Given the description of an element on the screen output the (x, y) to click on. 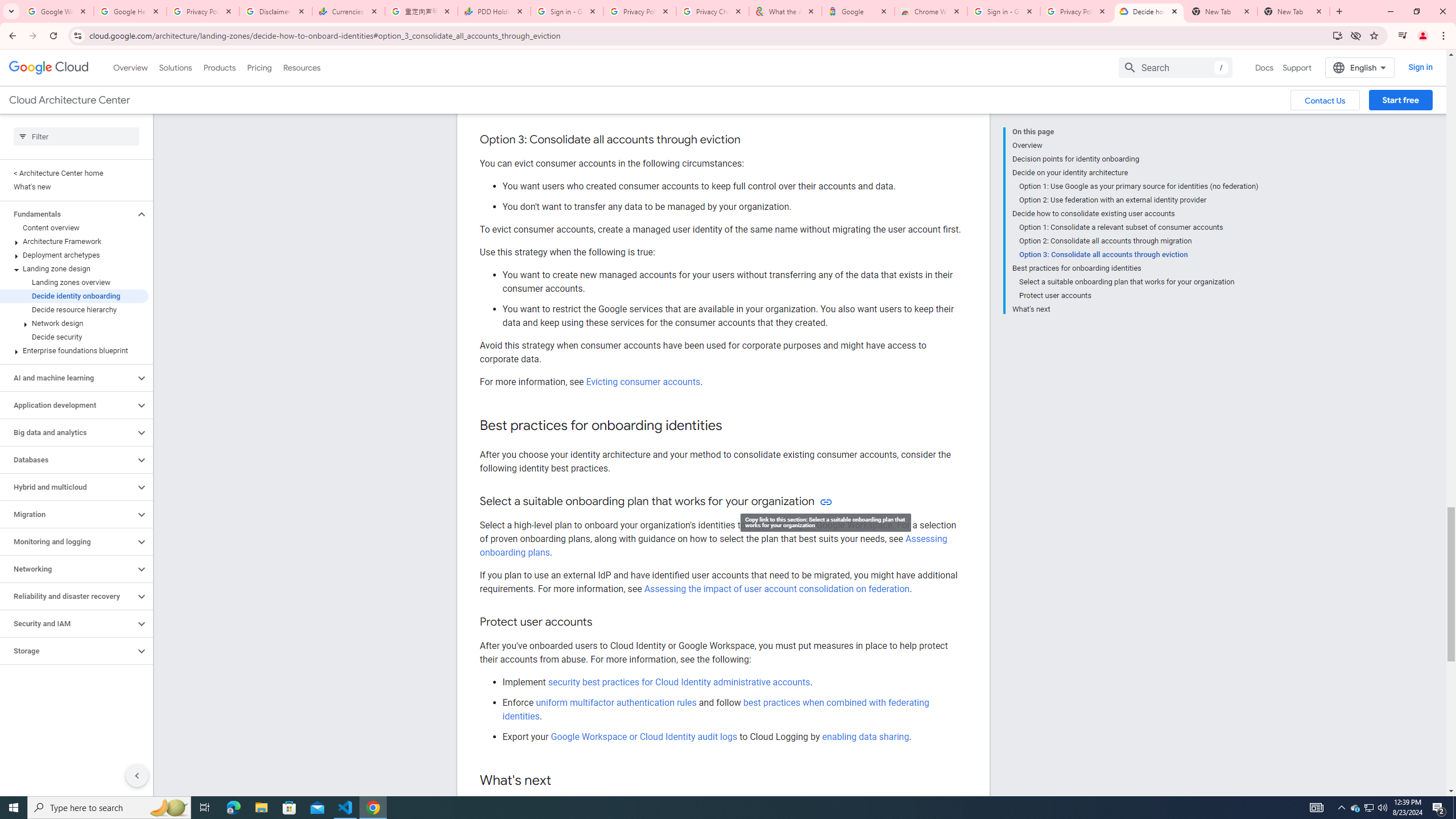
Decision points for identity onboarding (1134, 159)
Evicting consumer accounts (642, 381)
Network design (74, 323)
Networking (67, 568)
Cloud Architecture Center (68, 100)
Google Workspace Admin Community (57, 11)
Content overview (74, 228)
uniform multifactor authentication rules  (616, 702)
